Given the description of an element on the screen output the (x, y) to click on. 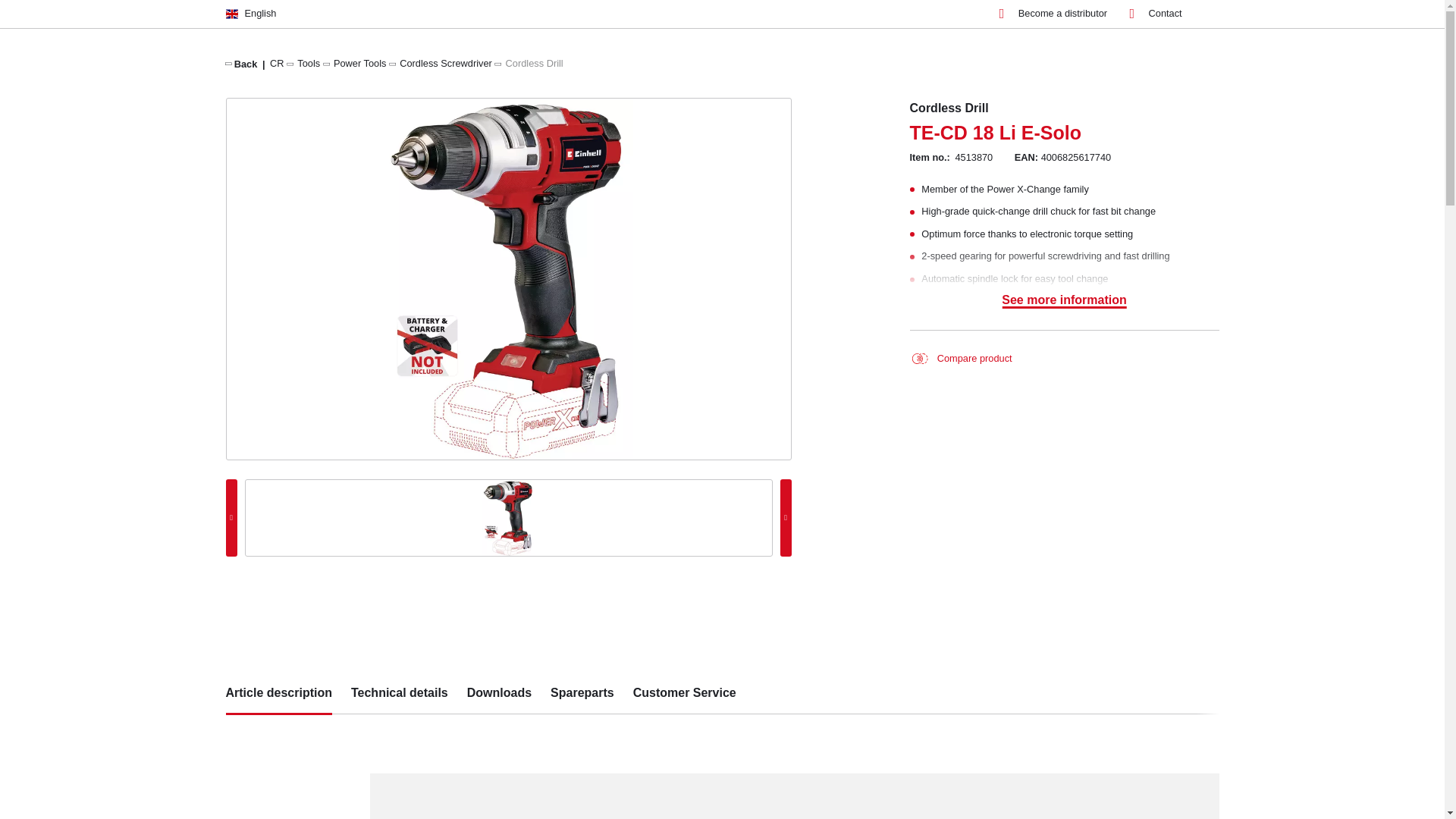
Contact (1155, 13)
CR (276, 62)
Become a distributor (1052, 13)
Cordless Screwdriver (445, 62)
Power Tools (359, 62)
Tools (308, 62)
